Given the description of an element on the screen output the (x, y) to click on. 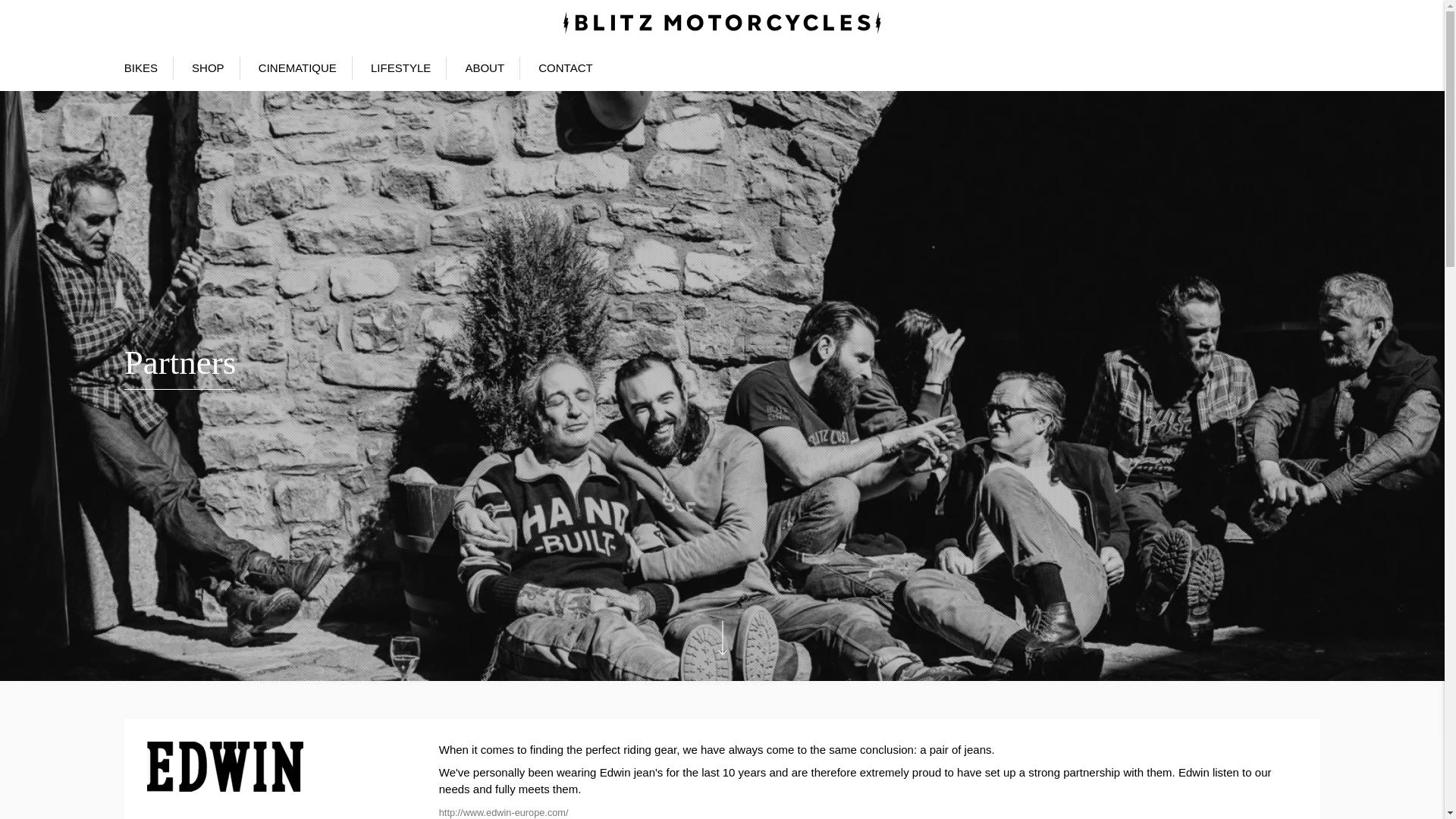
LIFESTYLE (400, 67)
Blitz Motorcycles (721, 22)
SHOP (208, 67)
CONTACT (565, 67)
ABOUT (483, 67)
CINEMATIQUE (297, 67)
BIKES (140, 67)
